Given the description of an element on the screen output the (x, y) to click on. 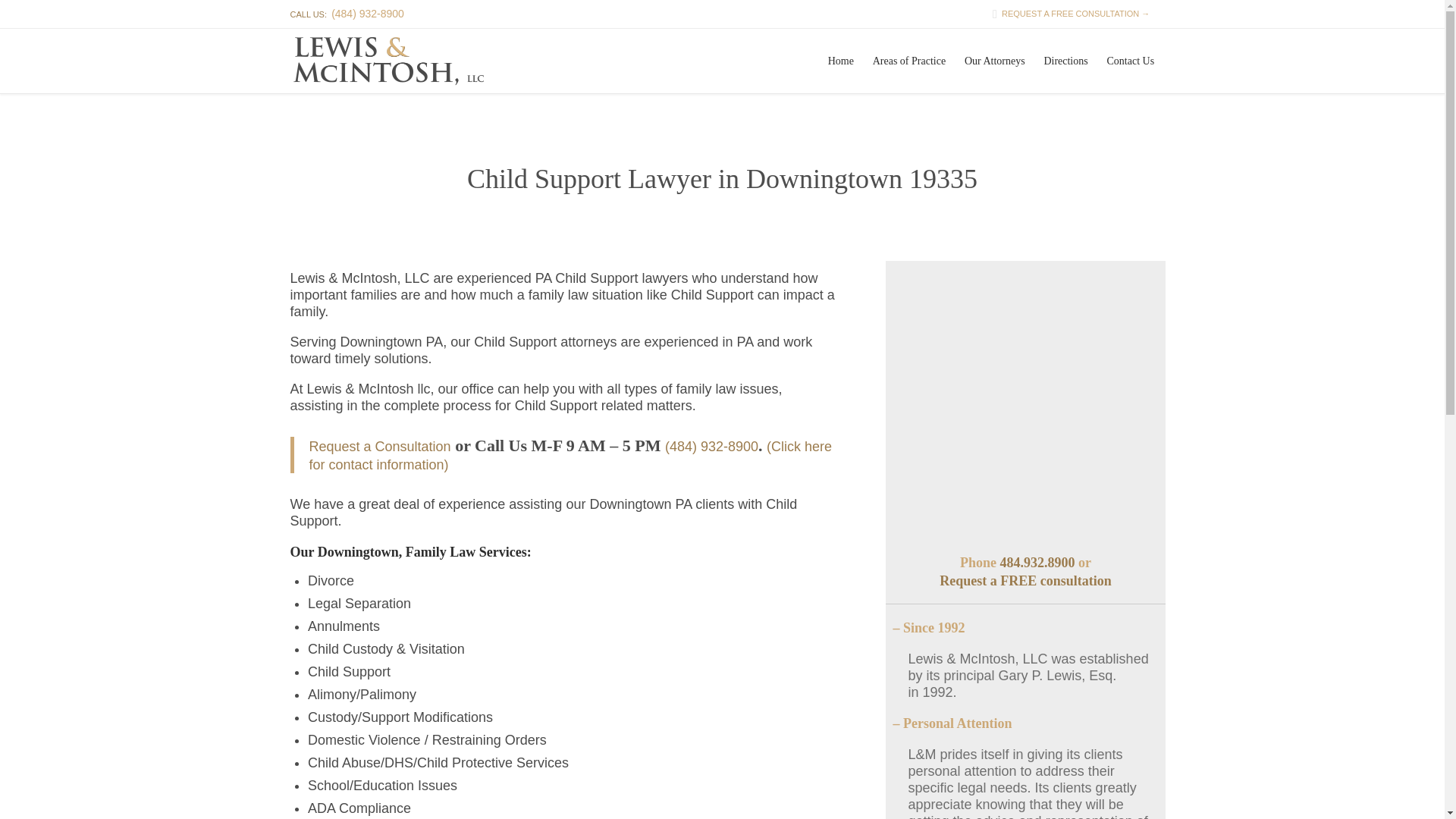
Request a FREE consultation (1025, 580)
484.932.8900 (1036, 562)
Directions (1065, 60)
Request a Consultation (379, 446)
Our Attorneys (995, 60)
Contact Us (1130, 60)
Areas of Practice (909, 60)
Home (840, 60)
